Given the description of an element on the screen output the (x, y) to click on. 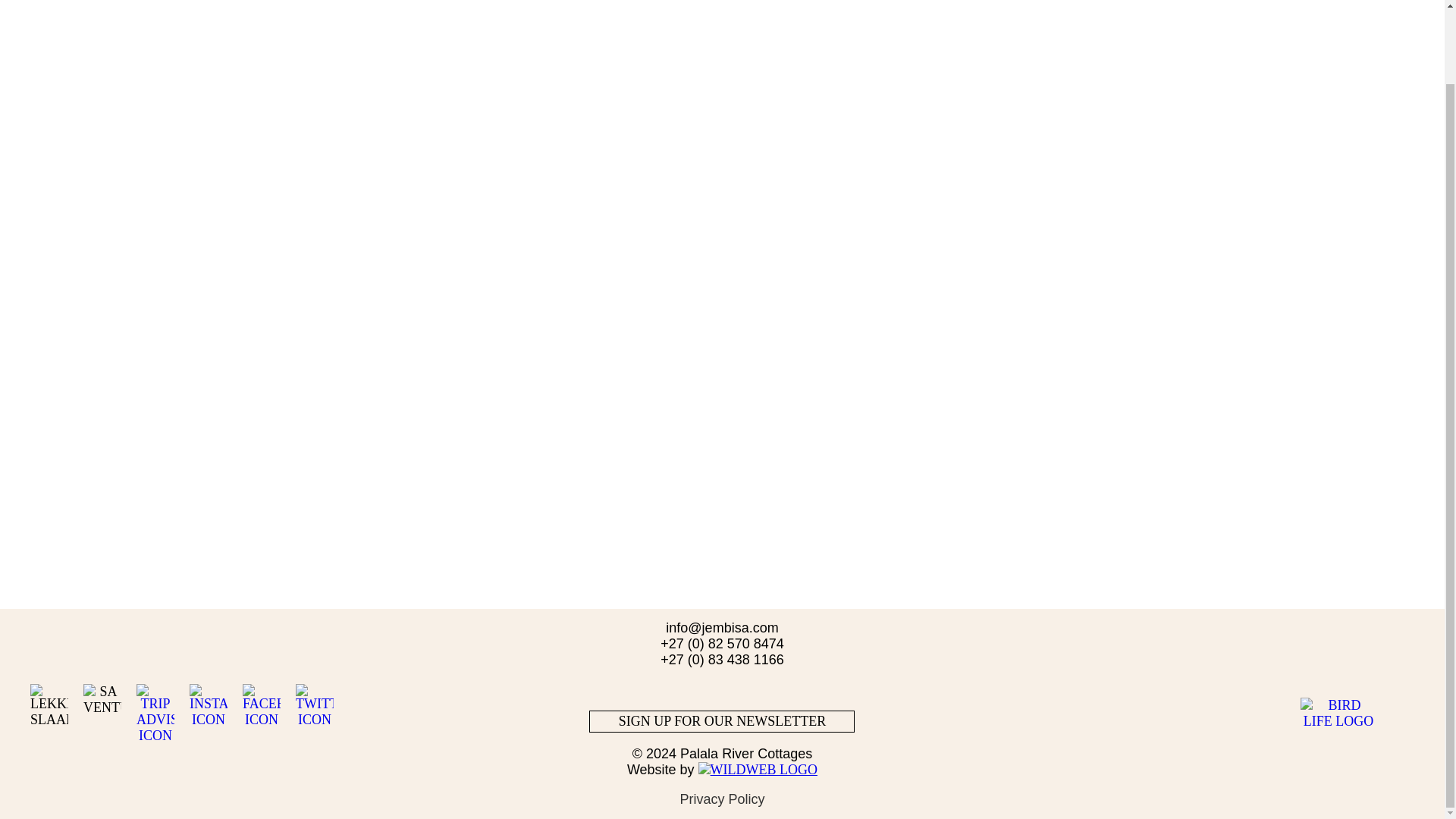
Privacy Policy (721, 798)
SIGN UP FOR OUR NEWSLETTER (721, 721)
